Given the description of an element on the screen output the (x, y) to click on. 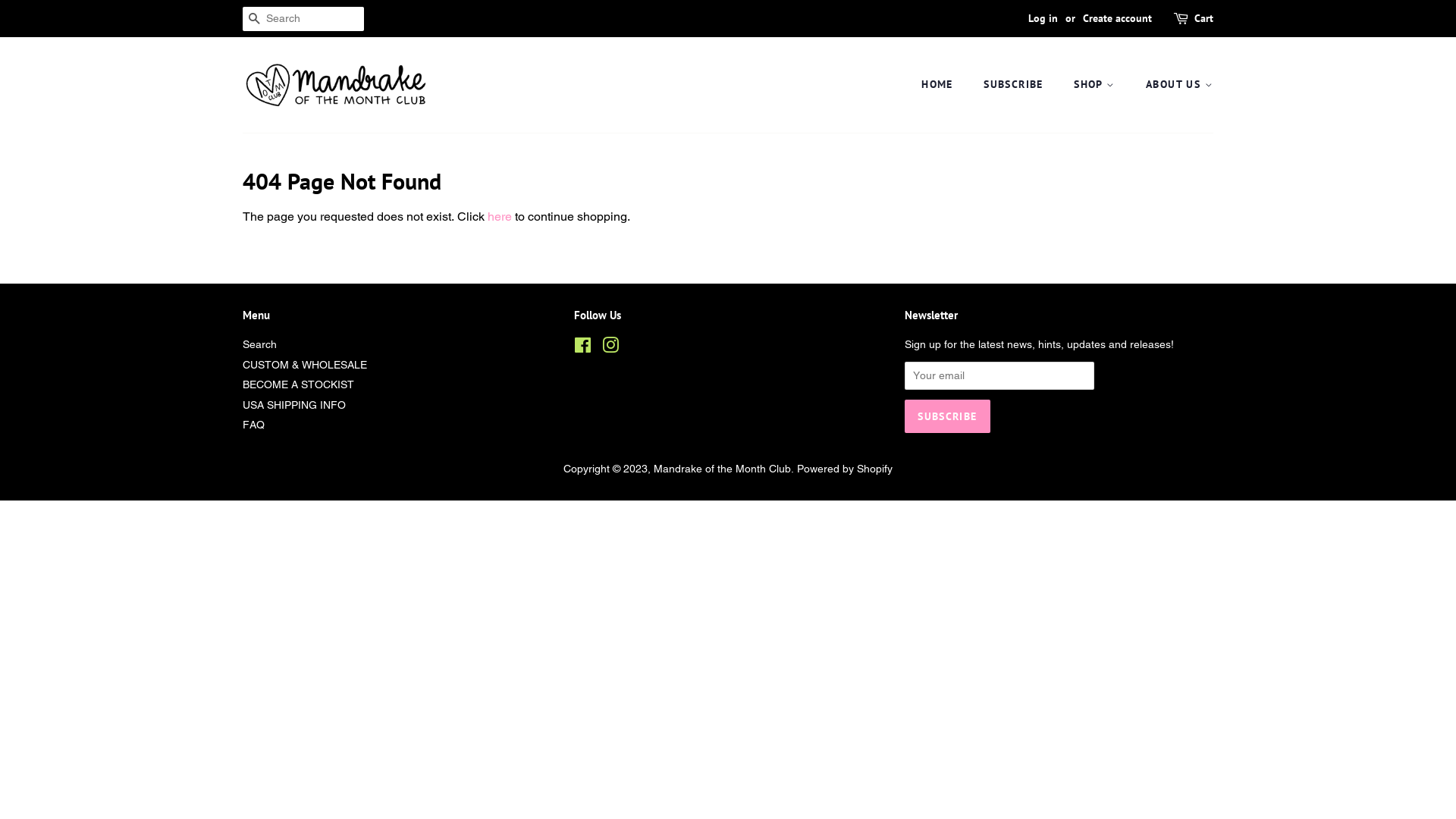
SHOP Element type: text (1095, 84)
Instagram Element type: text (610, 348)
Create account Element type: text (1116, 18)
SEARCH Element type: text (254, 18)
SUBSCRIBE Element type: text (1015, 84)
CUSTOM & WHOLESALE Element type: text (304, 364)
BECOME A STOCKIST Element type: text (298, 384)
Powered by Shopify Element type: text (844, 468)
Facebook Element type: text (582, 348)
USA SHIPPING INFO Element type: text (293, 404)
here Element type: text (499, 216)
Subscribe Element type: text (946, 416)
Search Element type: text (259, 344)
Mandrake of the Month Club Element type: text (721, 468)
FAQ Element type: text (253, 424)
Cart Element type: text (1203, 18)
ABOUT US Element type: text (1173, 84)
HOME Element type: text (944, 84)
Log in Element type: text (1042, 18)
